Given the description of an element on the screen output the (x, y) to click on. 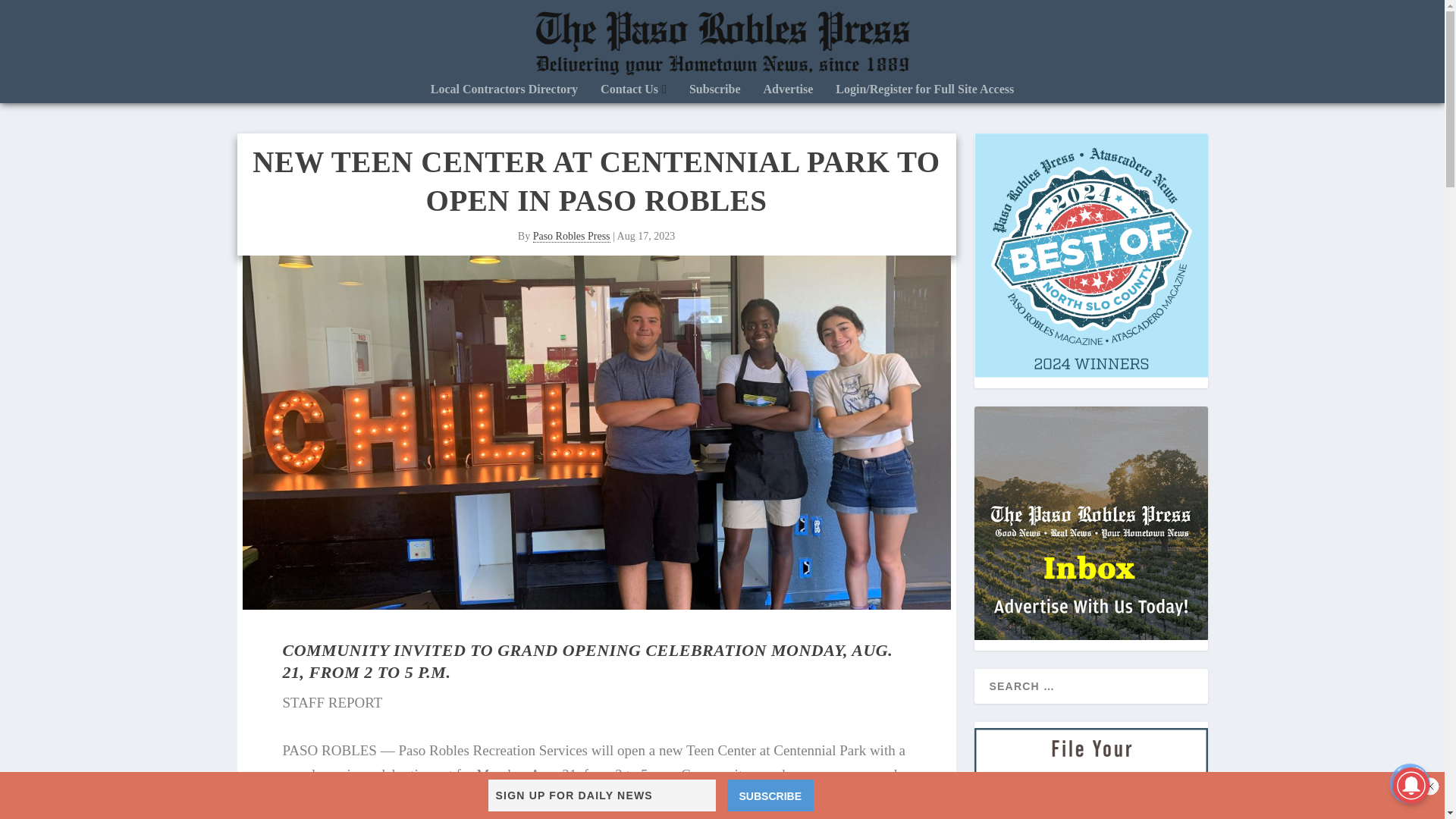
Posts by Paso Robles Press (571, 236)
Contact Us (632, 93)
Subscribe (769, 795)
Paso Robles Press (571, 236)
Local Contractors Directory (504, 93)
Subscribe (714, 93)
Advertise (787, 93)
